Given the description of an element on the screen output the (x, y) to click on. 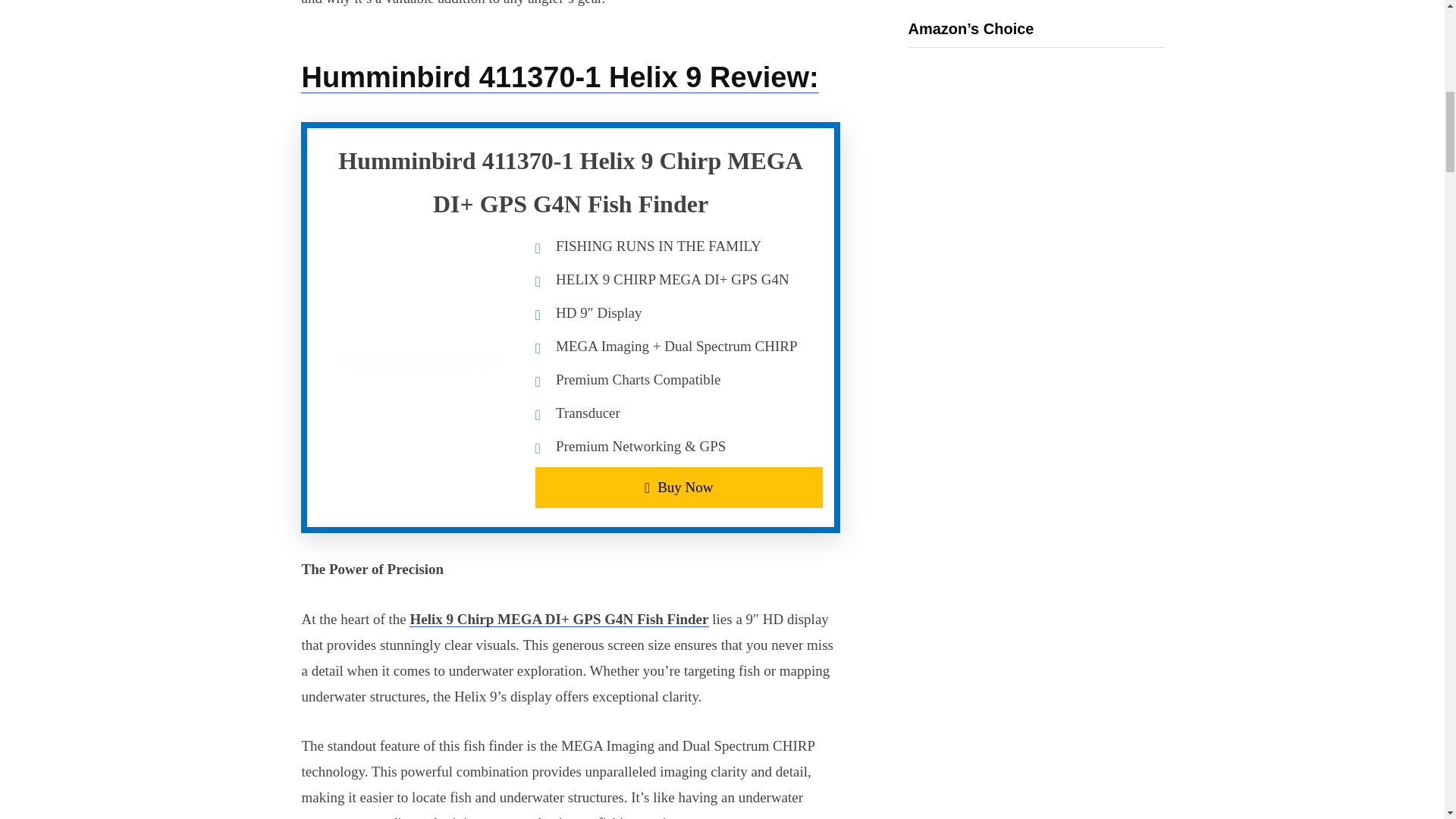
Buy Now (678, 486)
Humminbird 411370-1 Helix 9 Review: (559, 77)
